Given the description of an element on the screen output the (x, y) to click on. 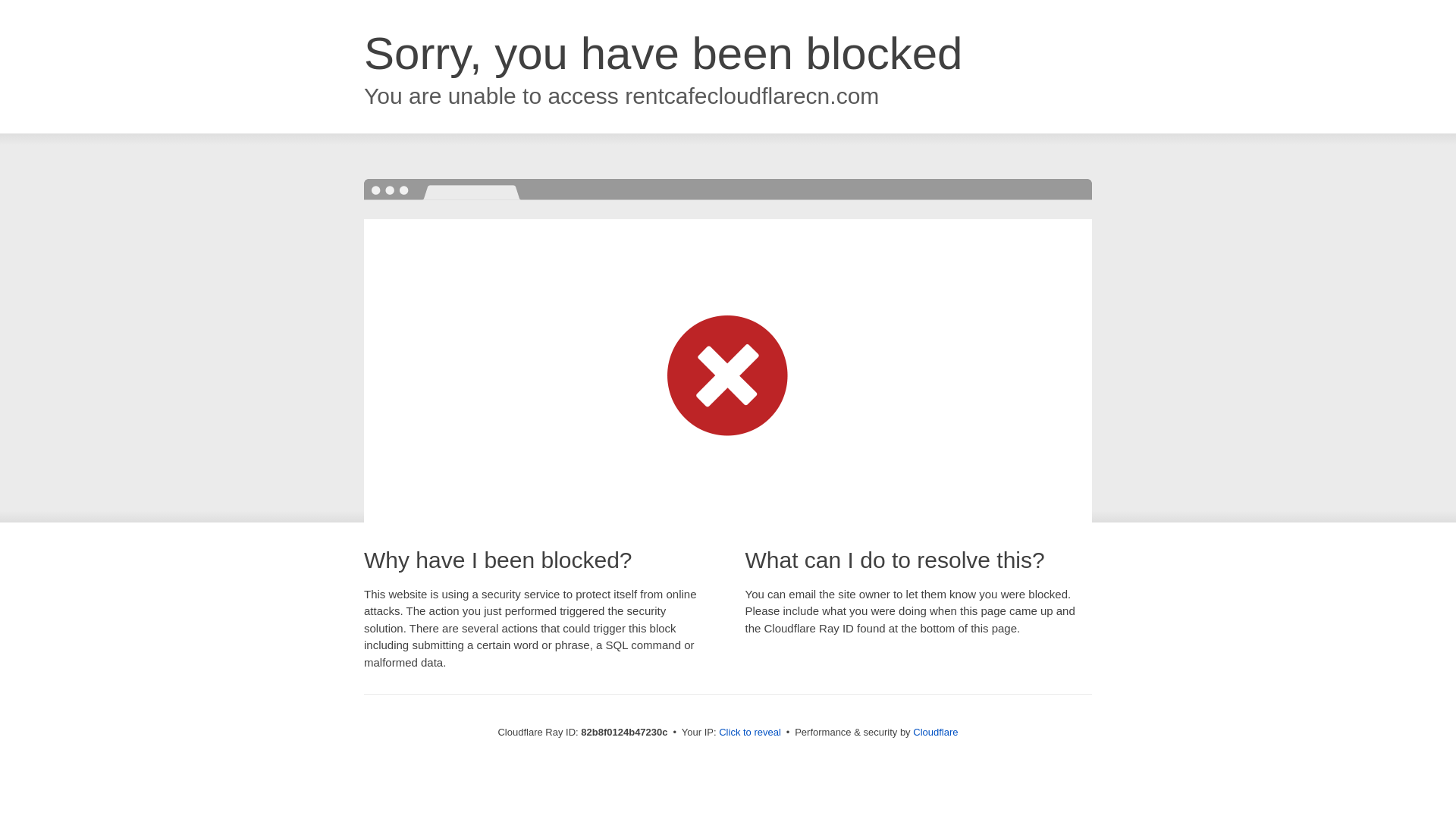
Click to reveal Element type: text (749, 732)
Cloudflare Element type: text (935, 731)
